Given the description of an element on the screen output the (x, y) to click on. 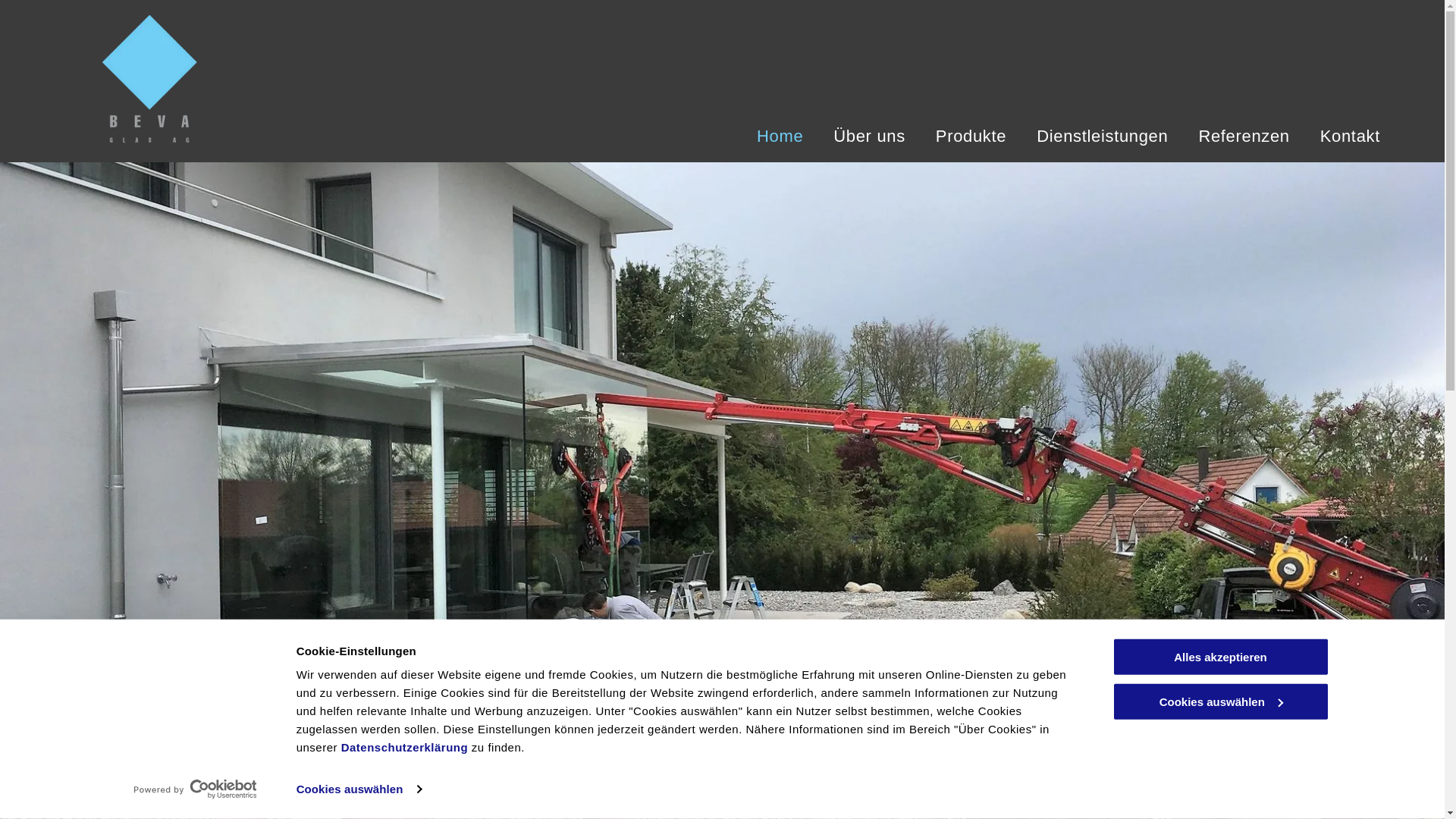
Home Element type: text (779, 136)
Alles akzeptieren Element type: text (1219, 656)
Referenzen Element type: text (1243, 136)
Dienstleistungen Element type: text (1102, 136)
Produkte Element type: text (970, 136)
Kontakt Element type: text (1350, 136)
